Given the description of an element on the screen output the (x, y) to click on. 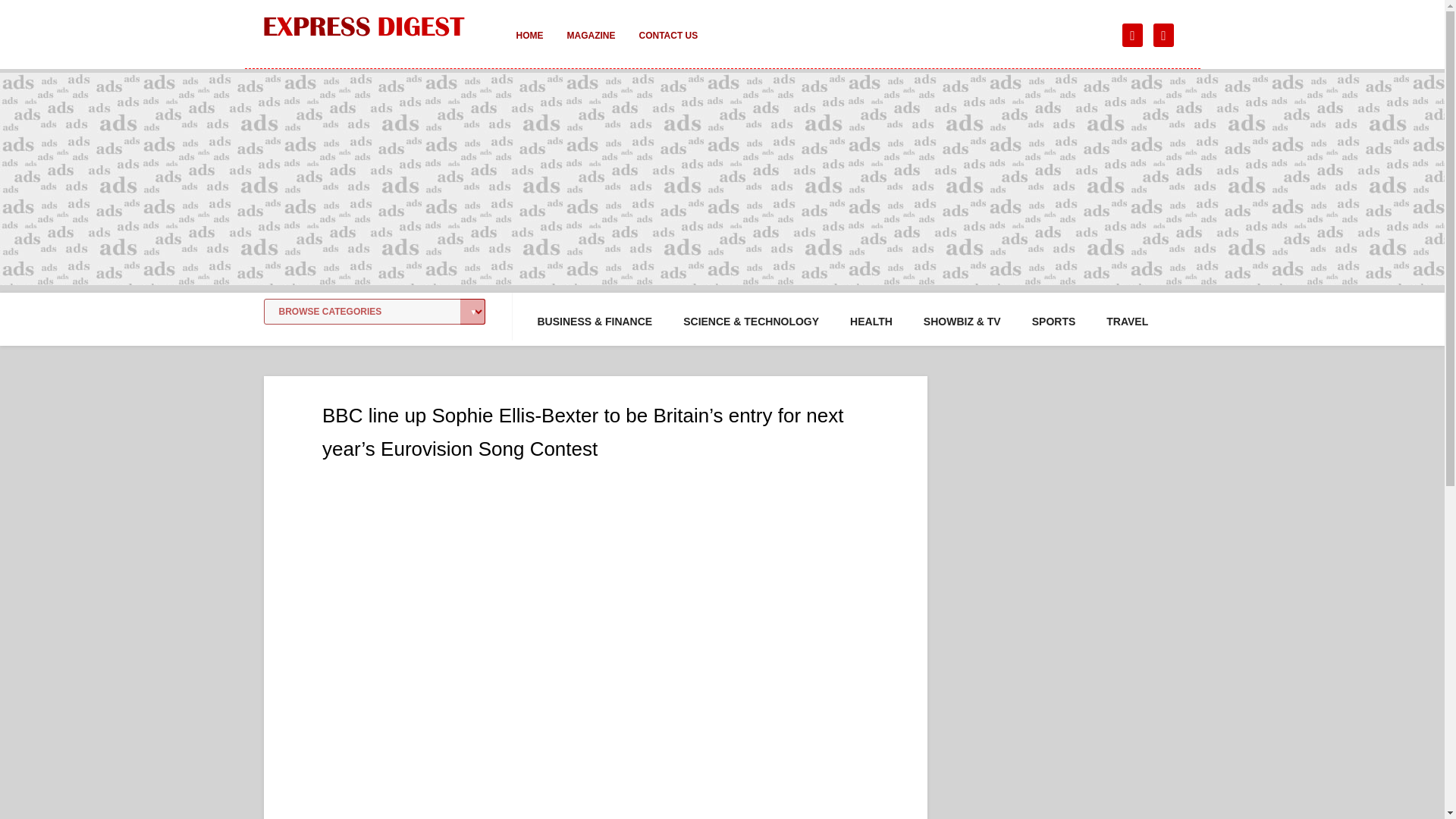
TRAVEL (1127, 321)
MAGAZINE (590, 45)
CONTACT US (667, 45)
SPORTS (1053, 321)
HEALTH (871, 321)
